Given the description of an element on the screen output the (x, y) to click on. 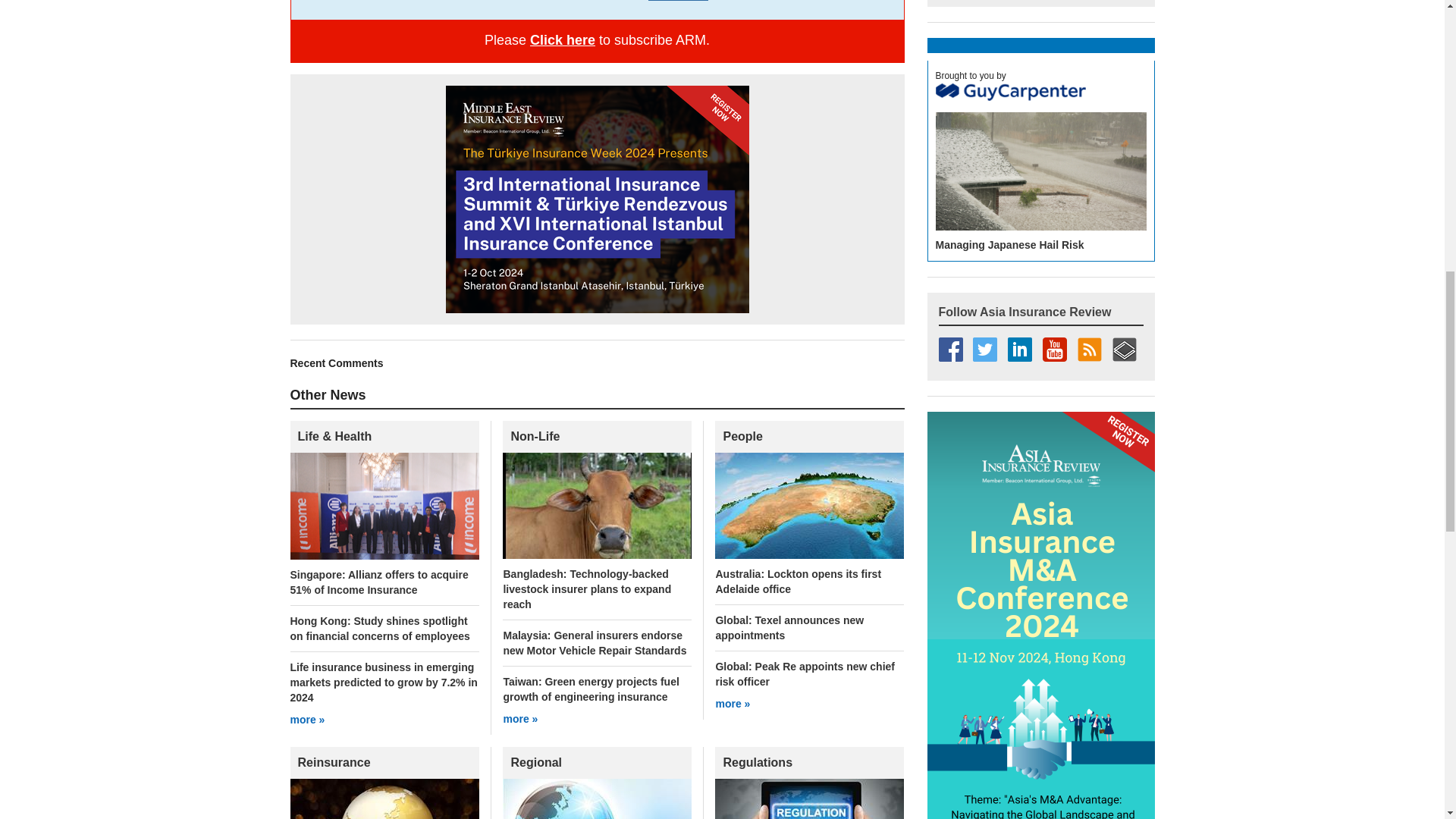
Login Now (677, 0)
